Given the description of an element on the screen output the (x, y) to click on. 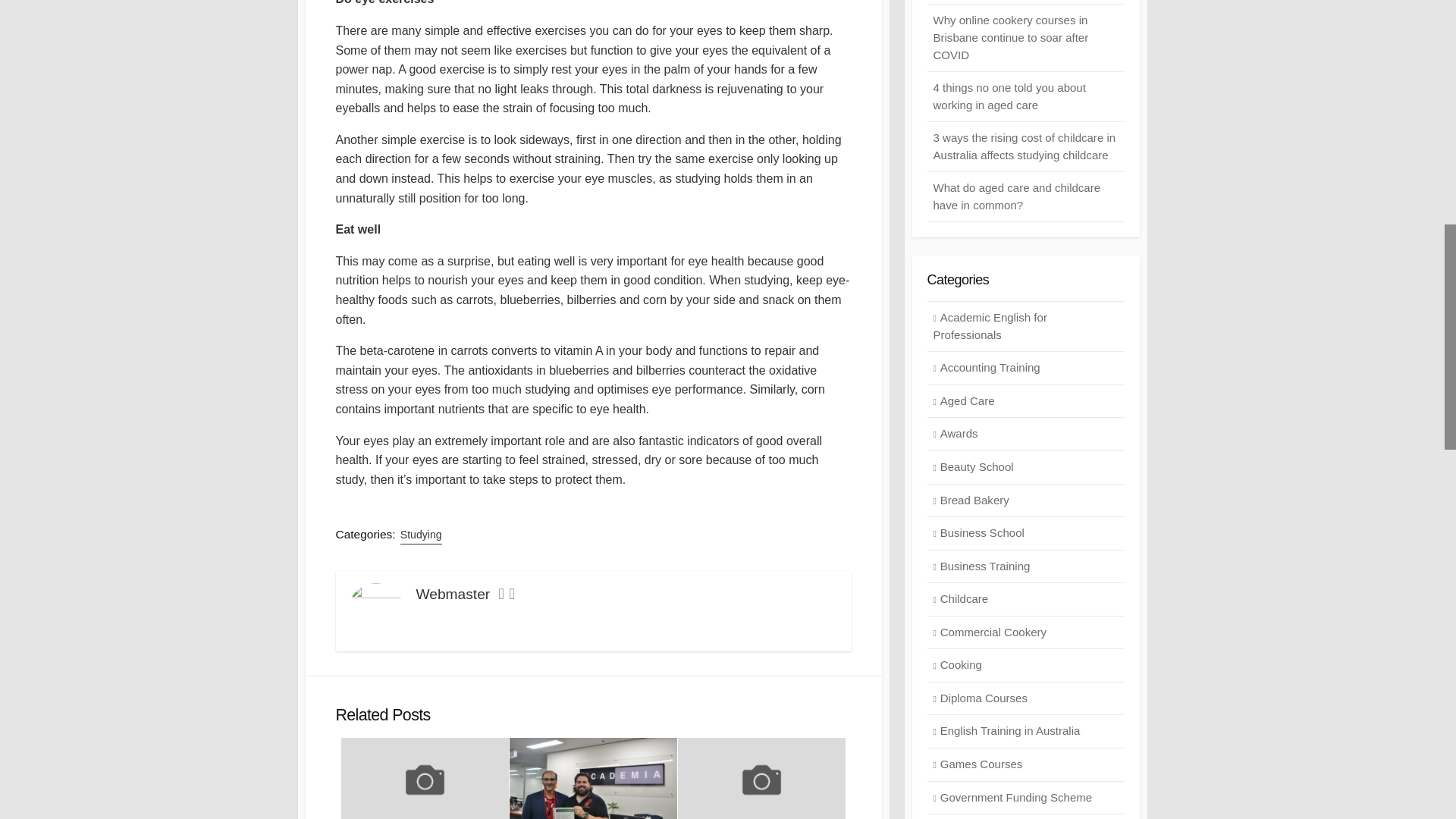
Studying (421, 534)
